Given the description of an element on the screen output the (x, y) to click on. 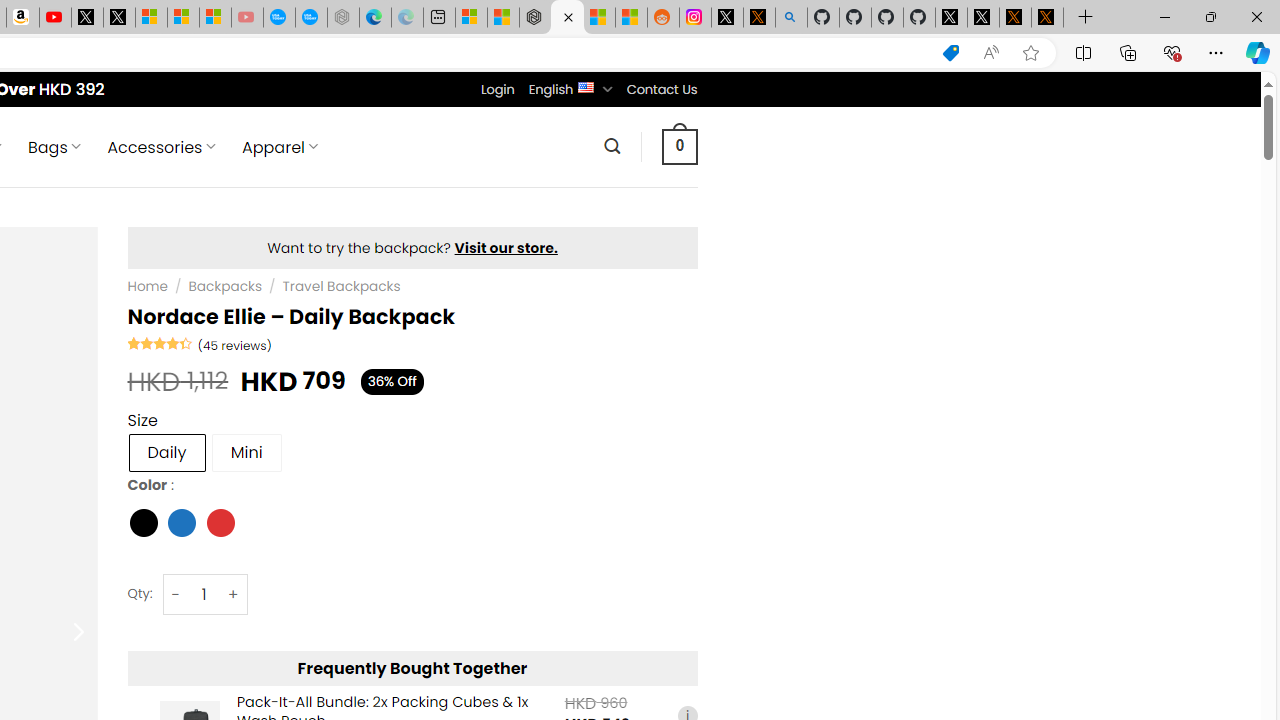
Nordace - Best Sellers (535, 17)
Gloom - YouTube - Sleeping (246, 17)
Opinion: Op-Ed and Commentary - USA TODAY (279, 17)
help.x.com | 524: A timeout occurred (758, 17)
Microsoft account | Microsoft Account Privacy Settings (471, 17)
Backpacks (225, 286)
English (586, 86)
Nordace - Nordace has arrived Hong Kong - Sleeping (343, 17)
Mini (246, 452)
Visit our store. (506, 247)
